Given the description of an element on the screen output the (x, y) to click on. 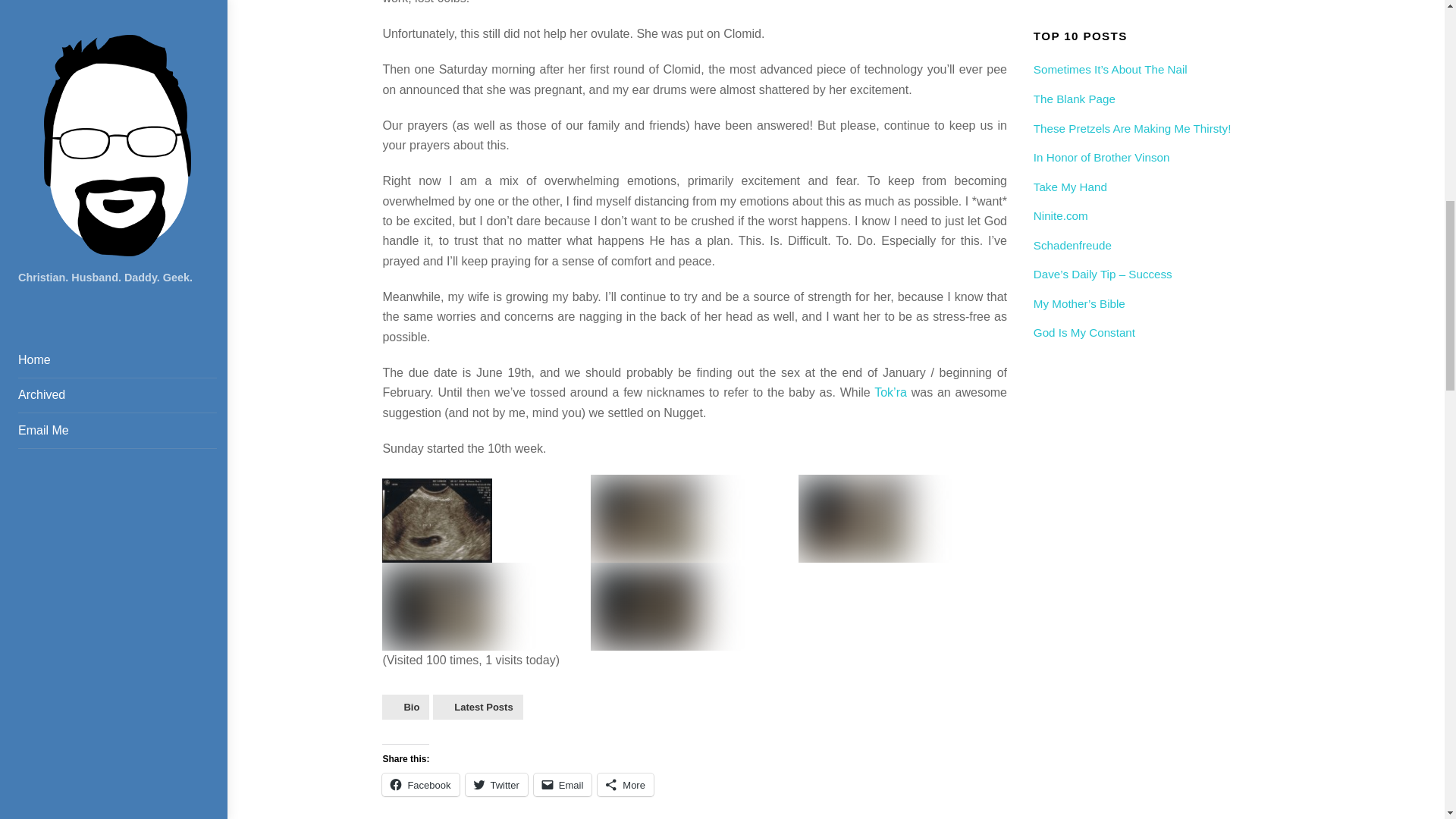
Twitter (496, 784)
More (624, 784)
Click to share on Facebook (419, 784)
Latest Posts (477, 706)
Click to email a link to a friend (563, 784)
Email (563, 784)
Bio (405, 706)
Facebook (419, 784)
Click to share on Twitter (496, 784)
